Given the description of an element on the screen output the (x, y) to click on. 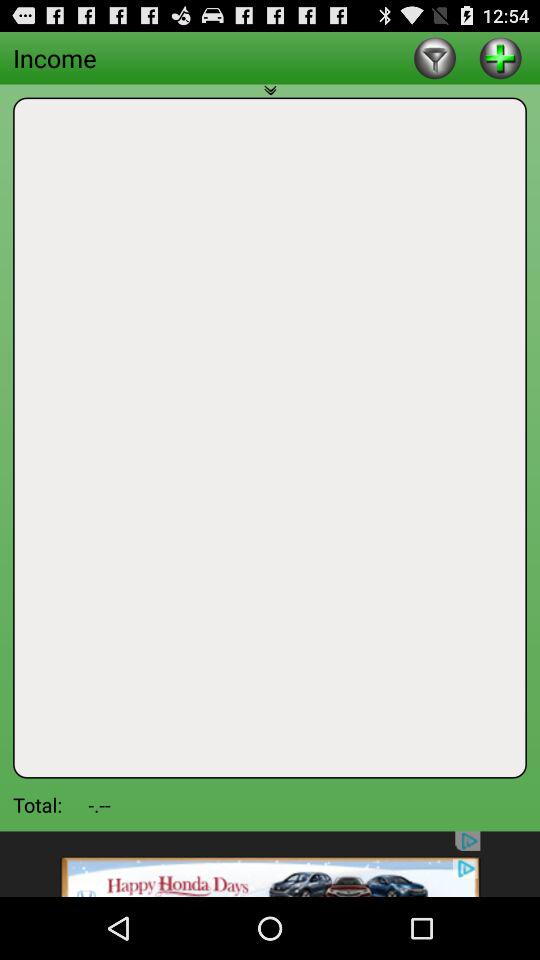
minimize this tab (269, 95)
